Given the description of an element on the screen output the (x, y) to click on. 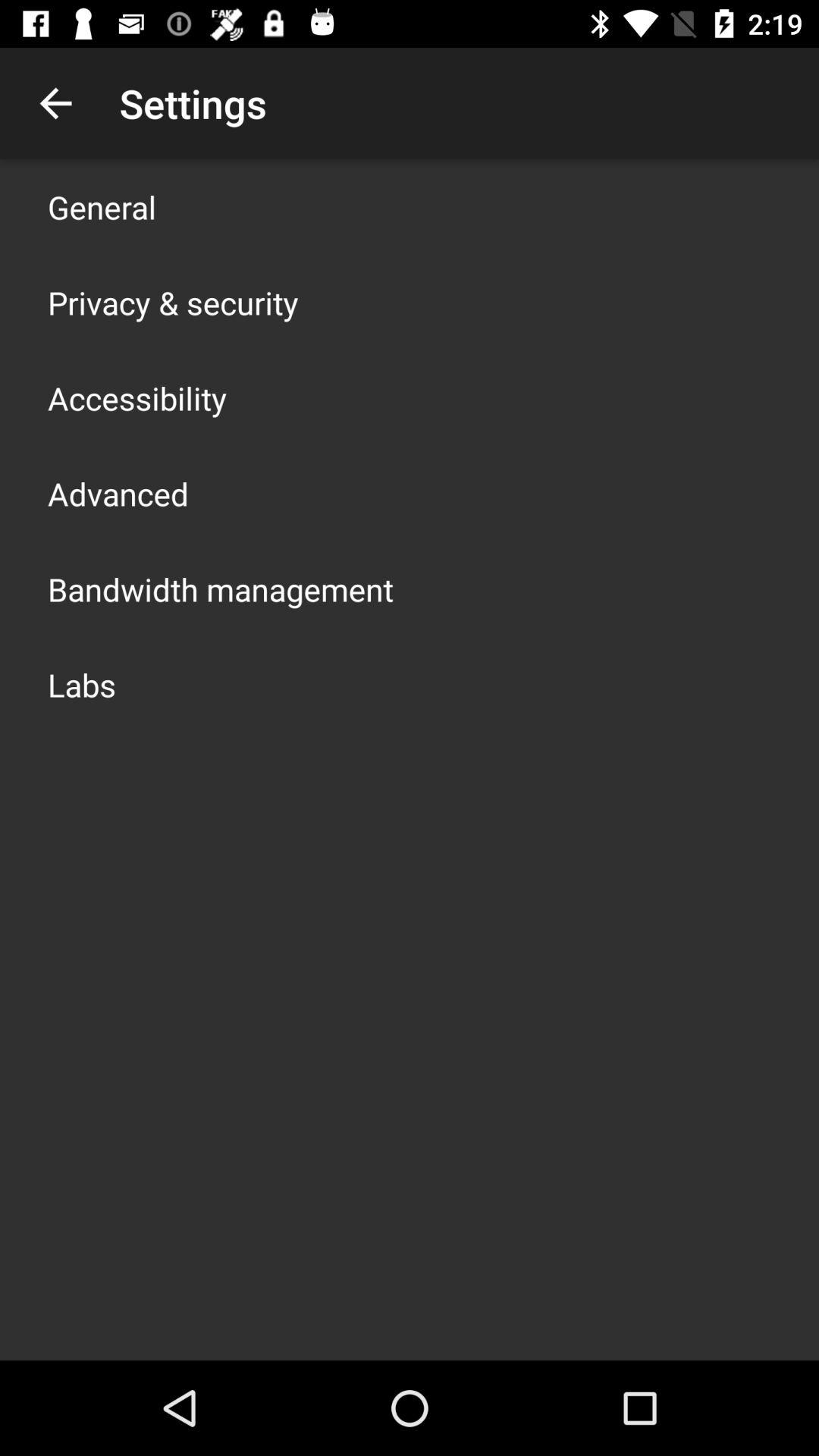
select the privacy & security item (172, 302)
